Given the description of an element on the screen output the (x, y) to click on. 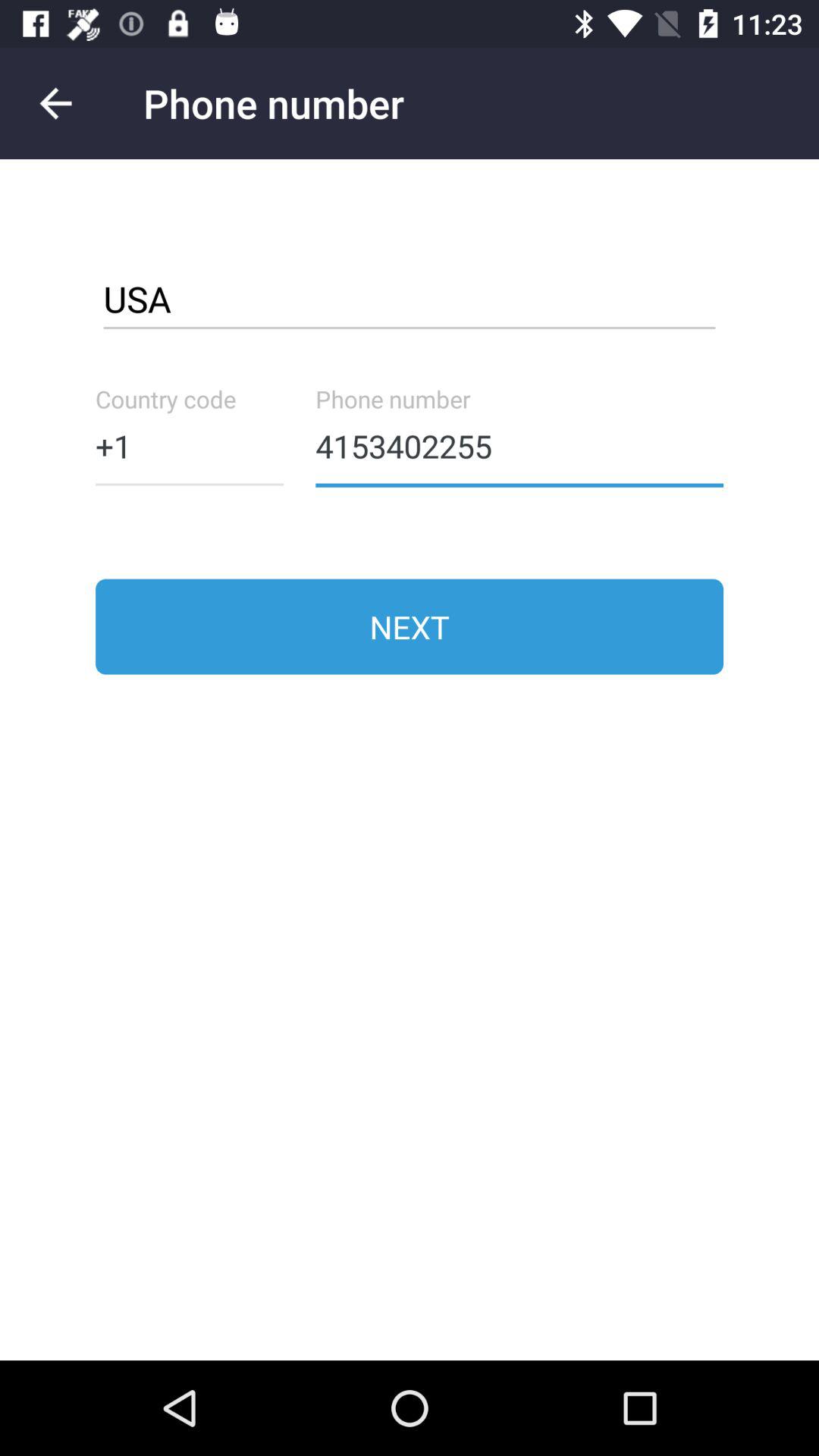
go to back (55, 103)
